Given the description of an element on the screen output the (x, y) to click on. 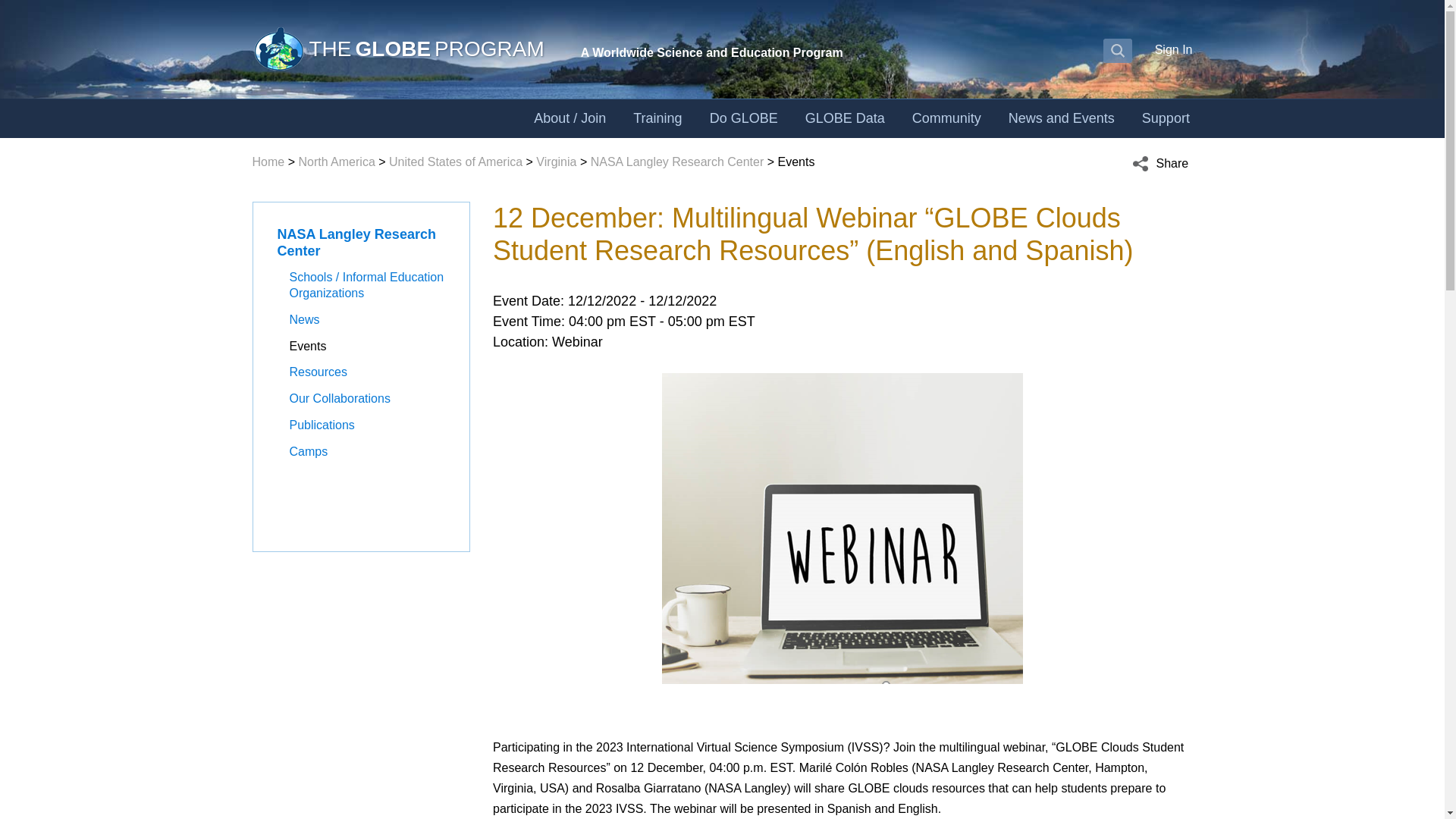
Go to GLOBE.gov (397, 48)
Sign In (1173, 48)
THE GLOBE PROGRAM (397, 48)
